Given the description of an element on the screen output the (x, y) to click on. 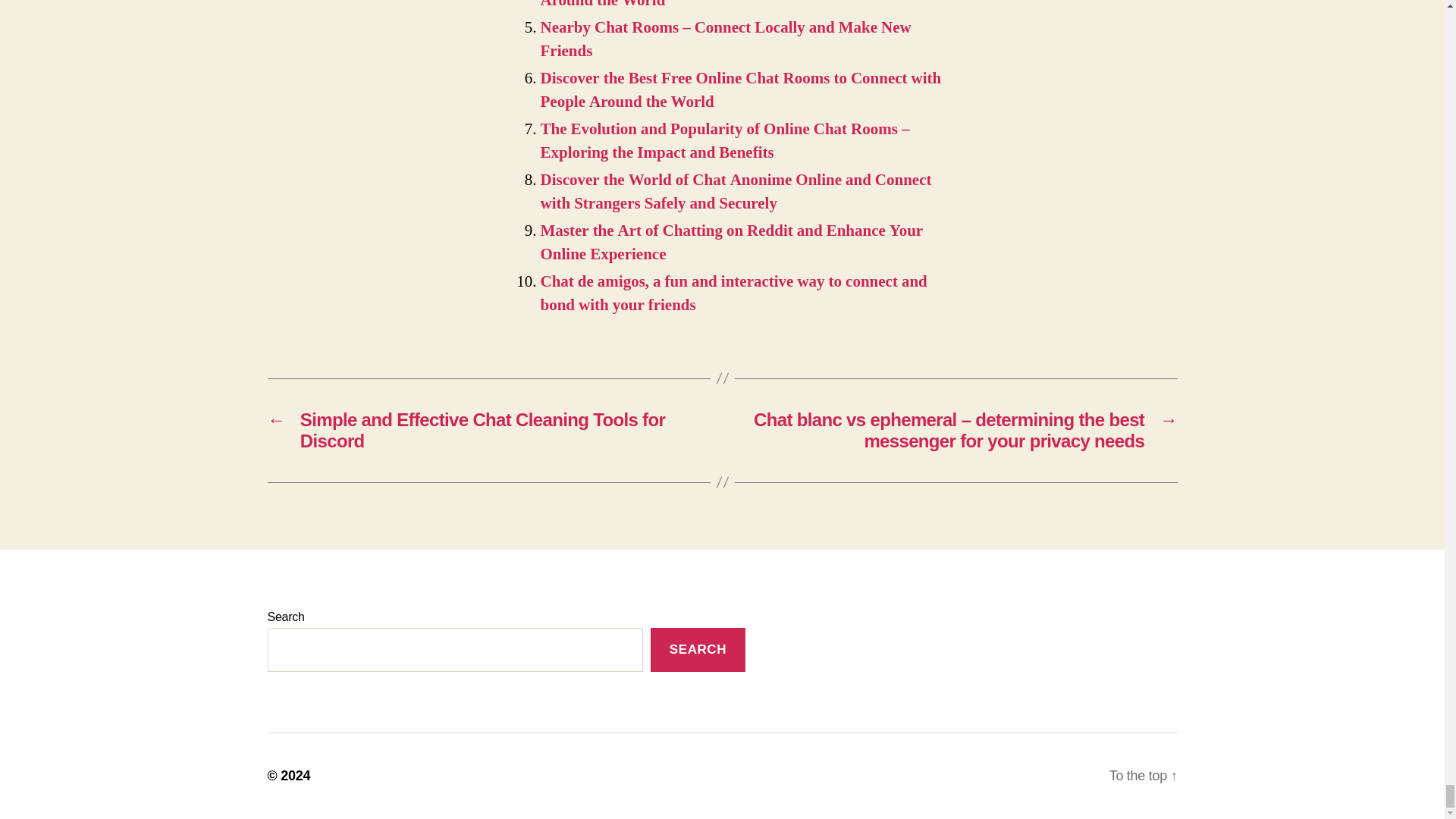
SEARCH (697, 650)
